Given the description of an element on the screen output the (x, y) to click on. 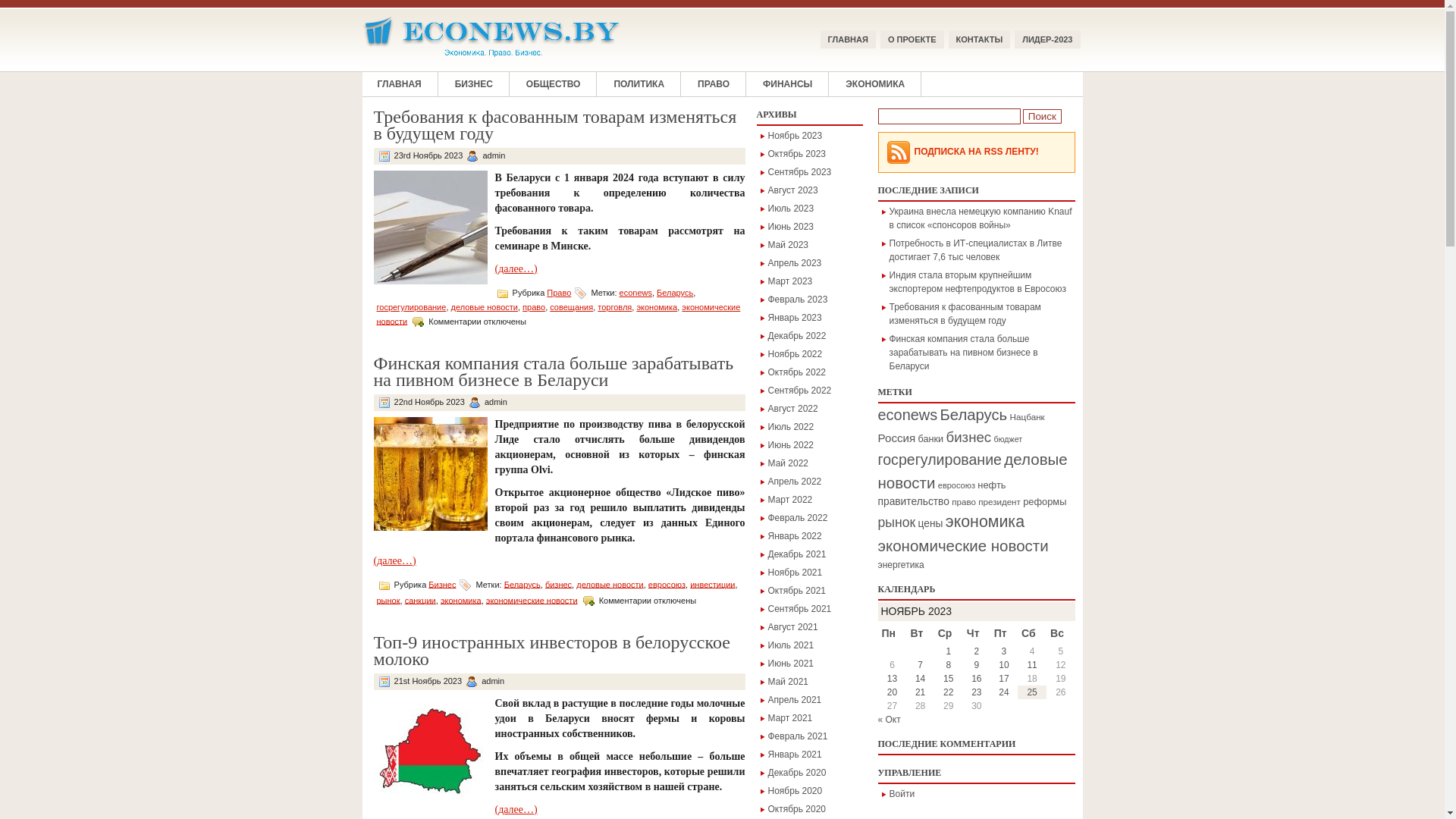
22 Element type: text (948, 692)
7 Element type: text (919, 664)
1 Element type: text (947, 651)
14 Element type: text (920, 678)
RSS Feed Element type: hover (897, 152)
2 Element type: text (976, 651)
23 Element type: text (976, 692)
16 Element type: text (976, 678)
8 Element type: text (947, 664)
econews Element type: text (908, 414)
24 Element type: text (1003, 692)
11 Element type: text (1031, 664)
econews Element type: text (635, 292)
9 Element type: text (976, 664)
15 Element type: text (948, 678)
21 Element type: text (920, 692)
3 Element type: text (1004, 651)
10 Element type: text (1003, 664)
17 Element type: text (1003, 678)
20 Element type: text (892, 692)
13 Element type: text (892, 678)
